Given the description of an element on the screen output the (x, y) to click on. 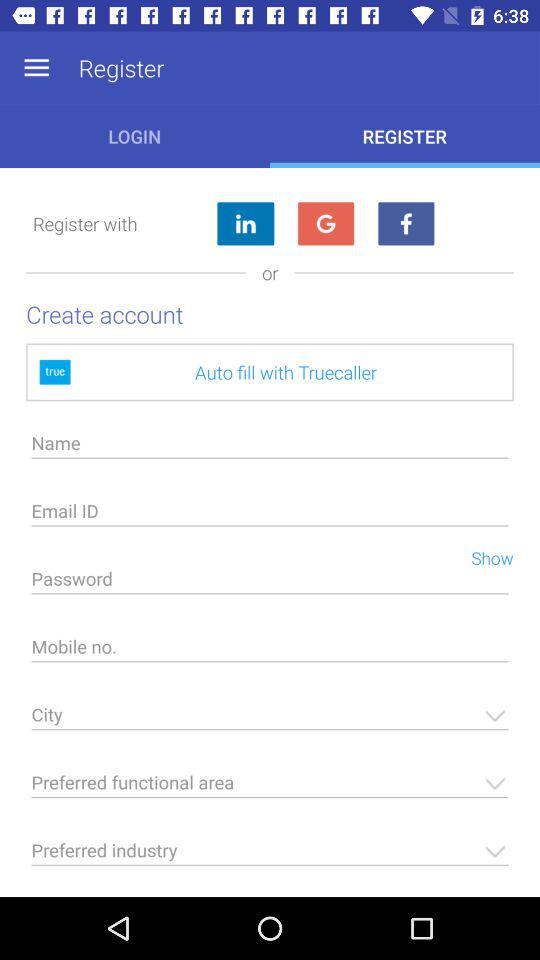
because back devicer (245, 224)
